Given the description of an element on the screen output the (x, y) to click on. 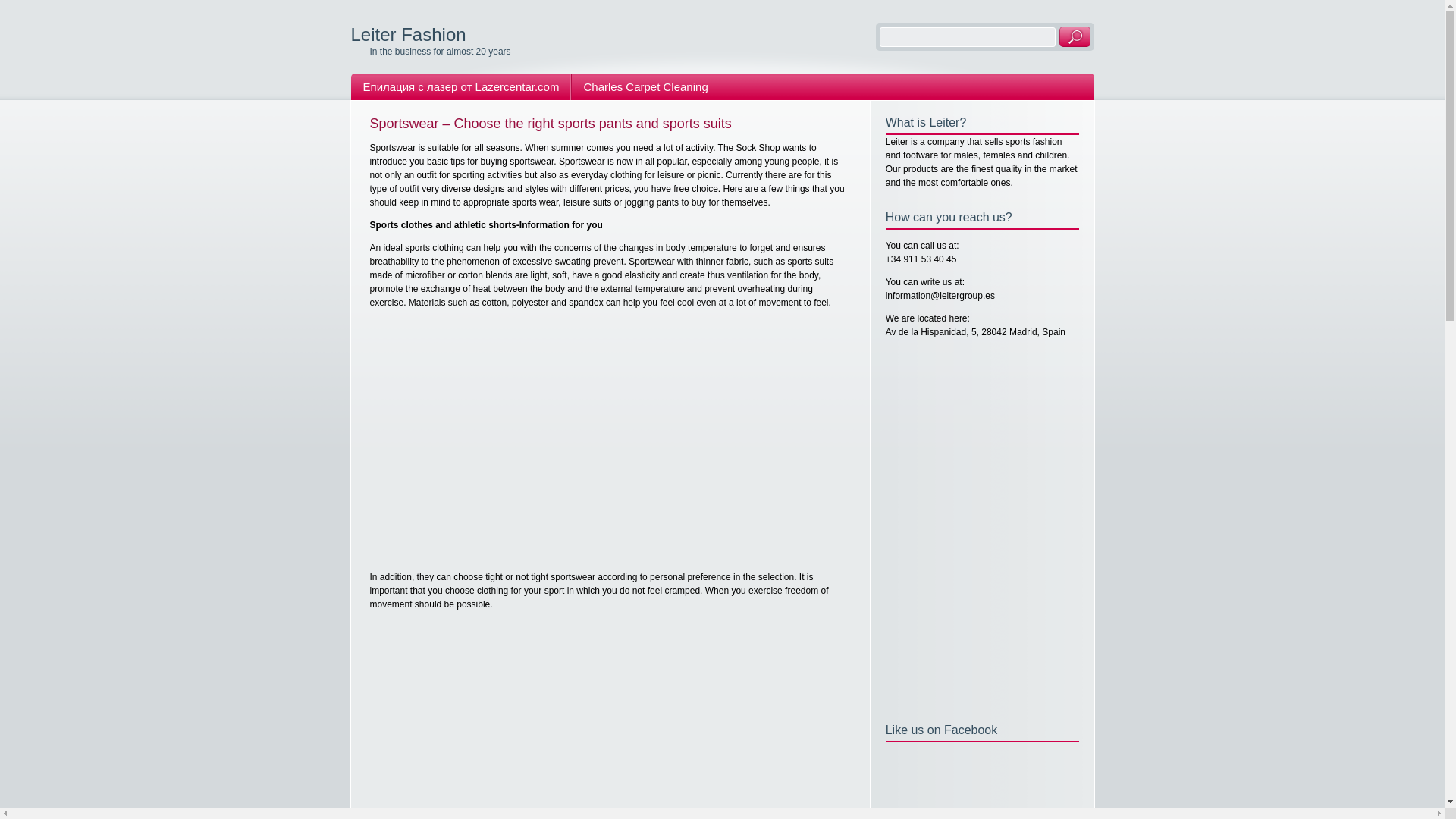
Leiter Fashion (407, 34)
Search (1073, 36)
Charles Carpet Cleaning (644, 86)
